Given the description of an element on the screen output the (x, y) to click on. 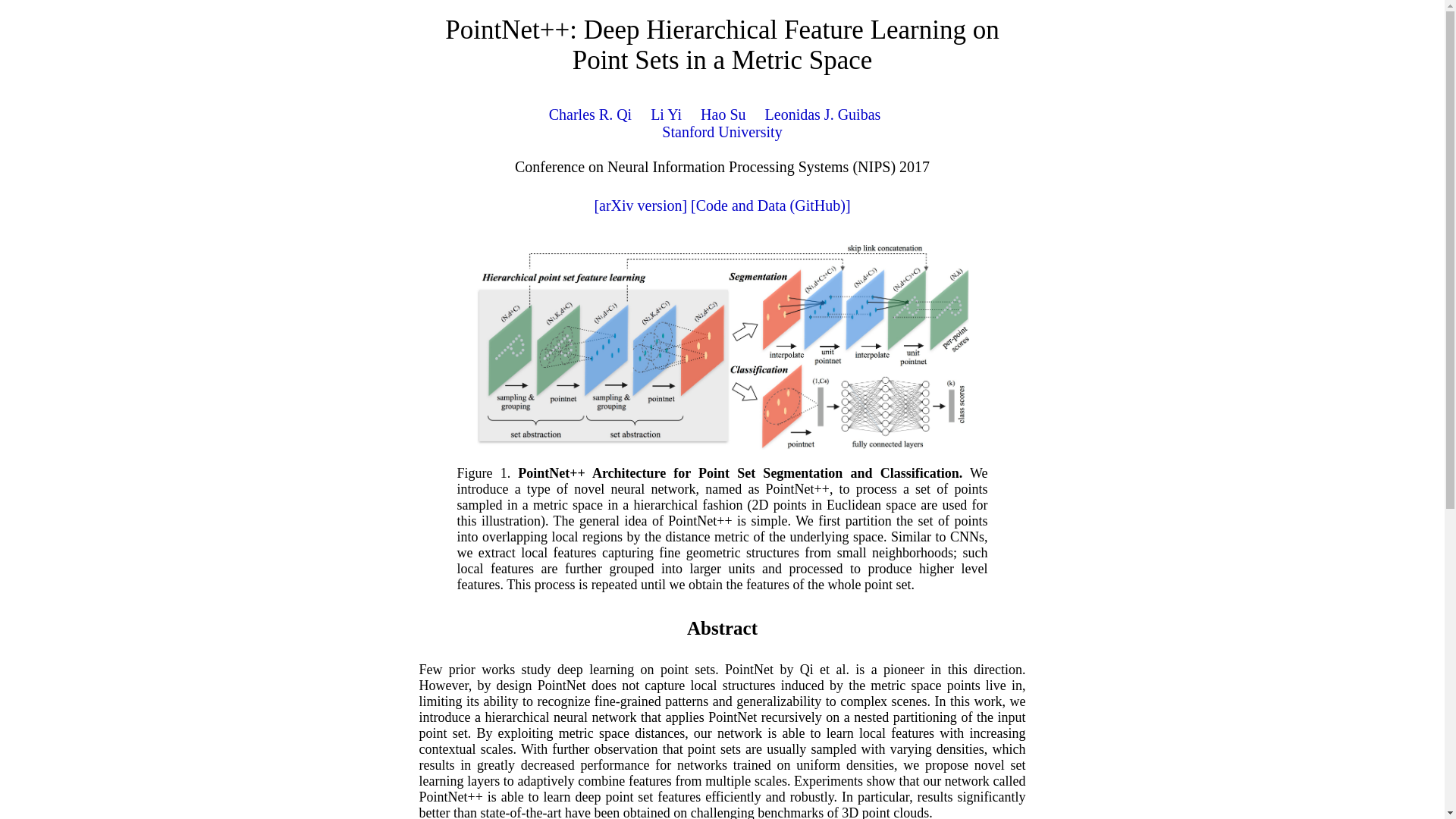
Hao Su (722, 114)
Li Yi (665, 114)
Stanford University (721, 131)
Leonidas J. Guibas (822, 114)
Charles R. Qi (589, 114)
